Given the description of an element on the screen output the (x, y) to click on. 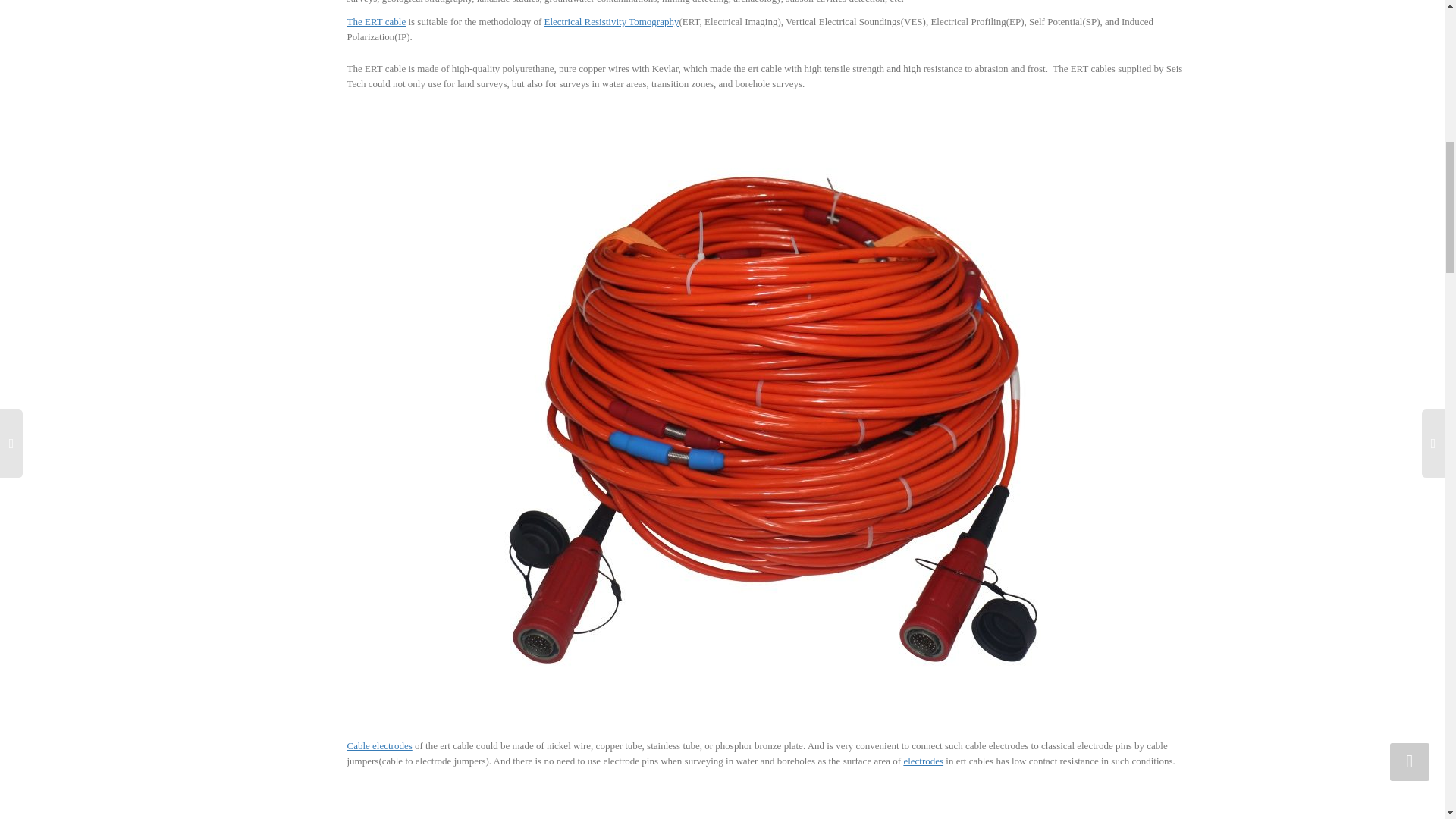
Electrical Resistivity Tomography (611, 21)
The ERT cable (376, 21)
Cable electrodes (379, 745)
electrodes (922, 760)
